Given the description of an element on the screen output the (x, y) to click on. 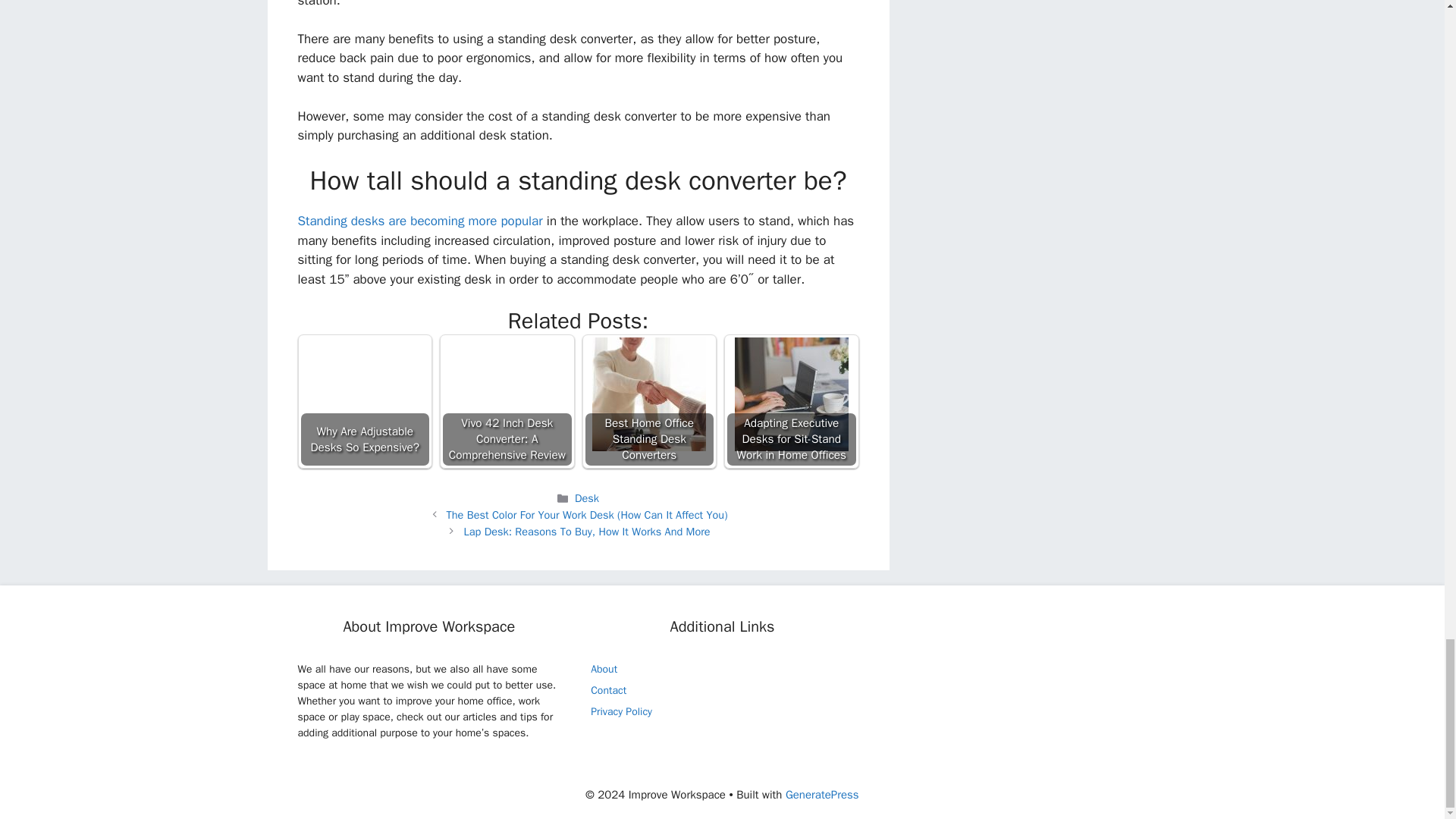
Best Home Office Standing Desk Converters (649, 400)
Adapting Executive Desks for Sit-Stand Work in Home Offices (792, 400)
Standing desks are becoming more popular (419, 220)
Lap Desk: Reasons To Buy, How It Works And More (587, 531)
Best Home Office Standing Desk Converters (649, 394)
Vivo 42 Inch Desk Converter: A Comprehensive Review (506, 394)
Desk (586, 498)
Vivo 42 Inch Desk Converter: A Comprehensive Review (507, 400)
Why Are Adjustable Desks So Expensive? (364, 394)
Why Are Adjustable Desks So Expensive? (365, 400)
